Given the description of an element on the screen output the (x, y) to click on. 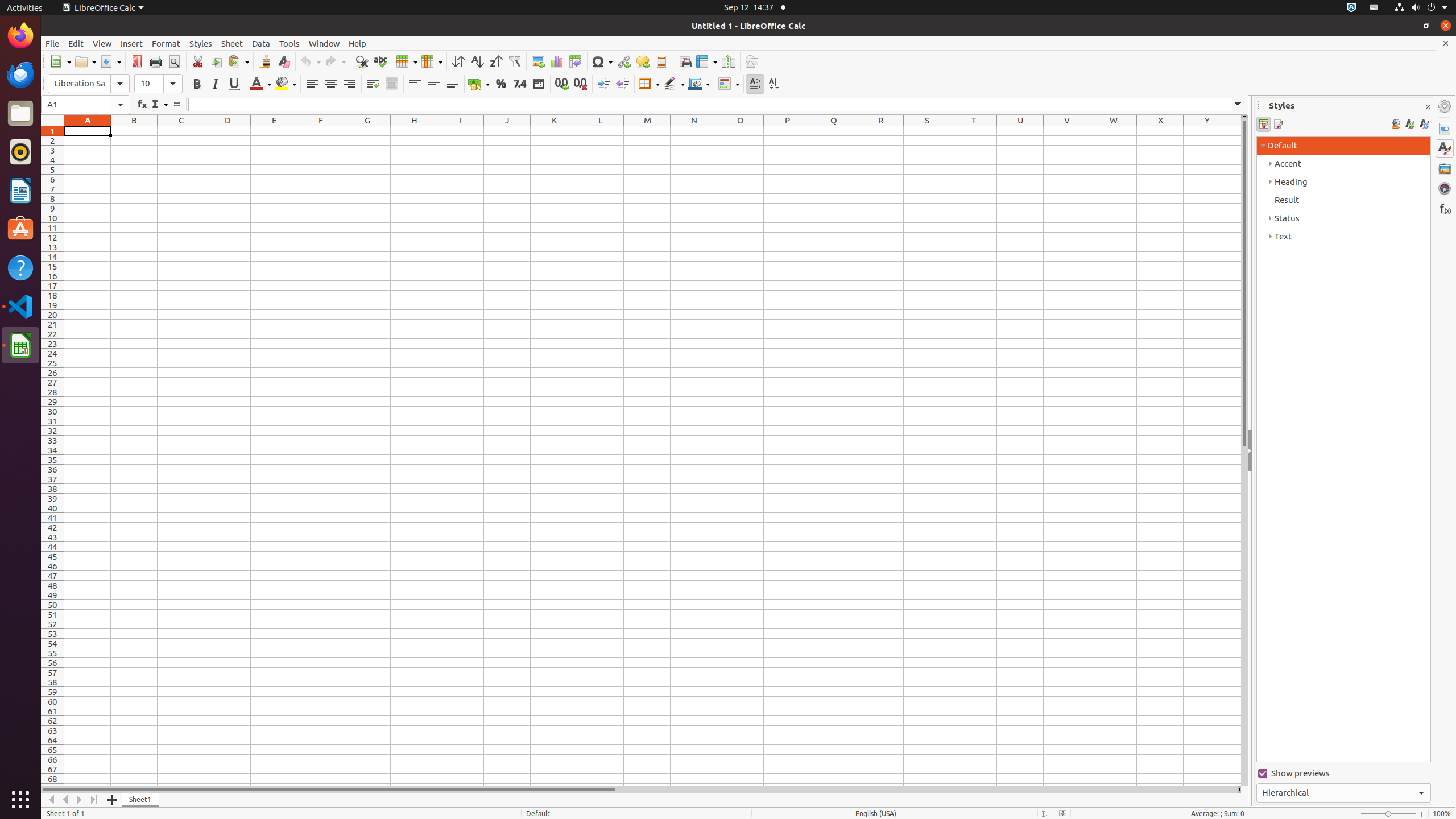
Merge and Center Cells Element type: push-button (391, 83)
Draw Functions Element type: toggle-button (751, 61)
Undo Element type: push-button (309, 61)
Fill Format Mode Element type: push-button (1395, 123)
:1.21/StatusNotifierItem Element type: menu (1373, 7)
